Given the description of an element on the screen output the (x, y) to click on. 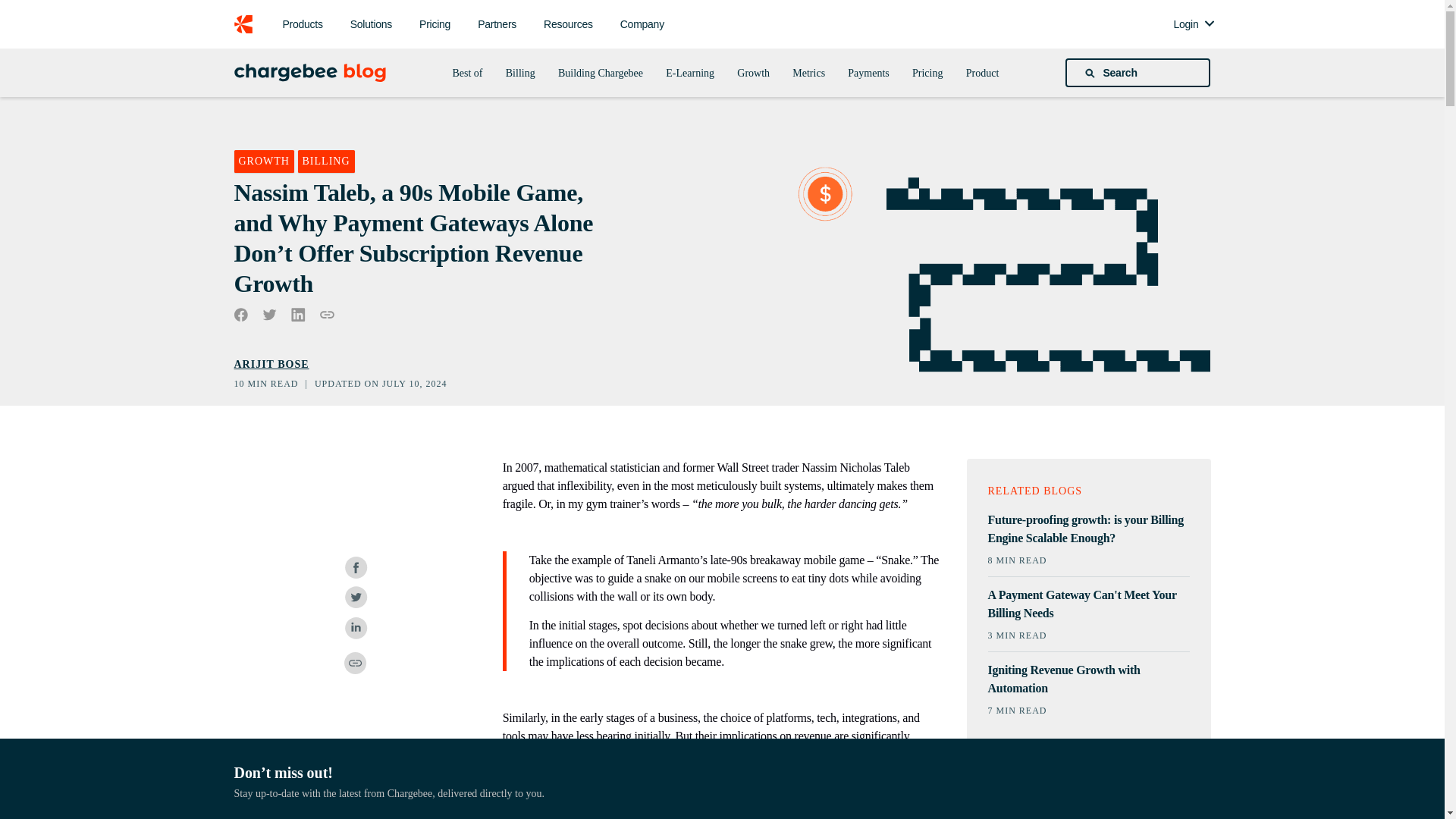
Products (301, 23)
Pricing (435, 23)
Company (642, 23)
Posts by Arijit Bose (270, 364)
Resources (568, 23)
Partners (496, 23)
Login (1184, 24)
Solutions (370, 23)
